Given the description of an element on the screen output the (x, y) to click on. 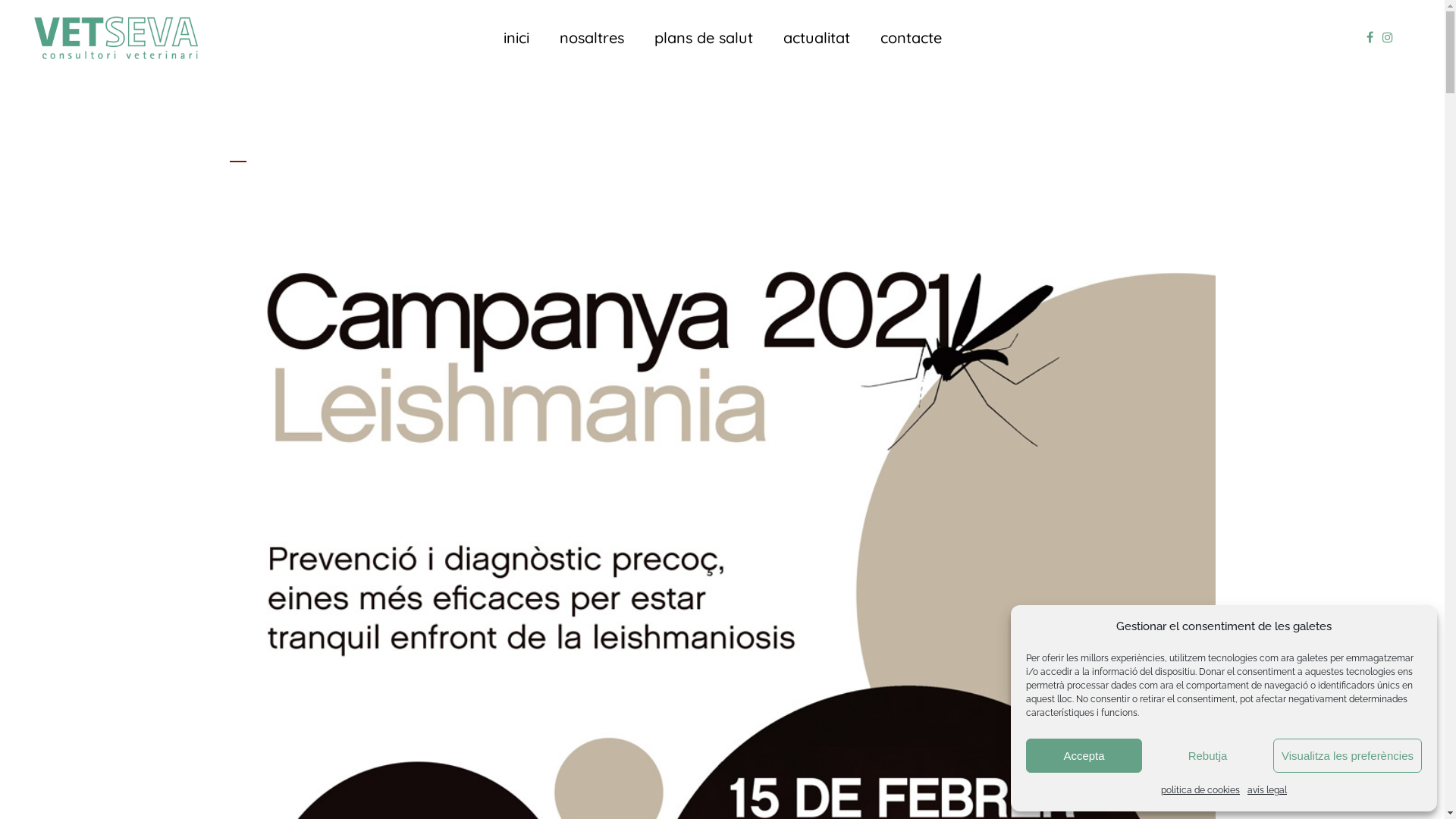
plans de salut Element type: text (702, 37)
actualitat Element type: text (815, 37)
nosaltres Element type: text (591, 37)
Accepta Element type: text (1084, 755)
contacte Element type: text (910, 37)
inici Element type: text (516, 37)
Rebutja Element type: text (1207, 755)
